Given the description of an element on the screen output the (x, y) to click on. 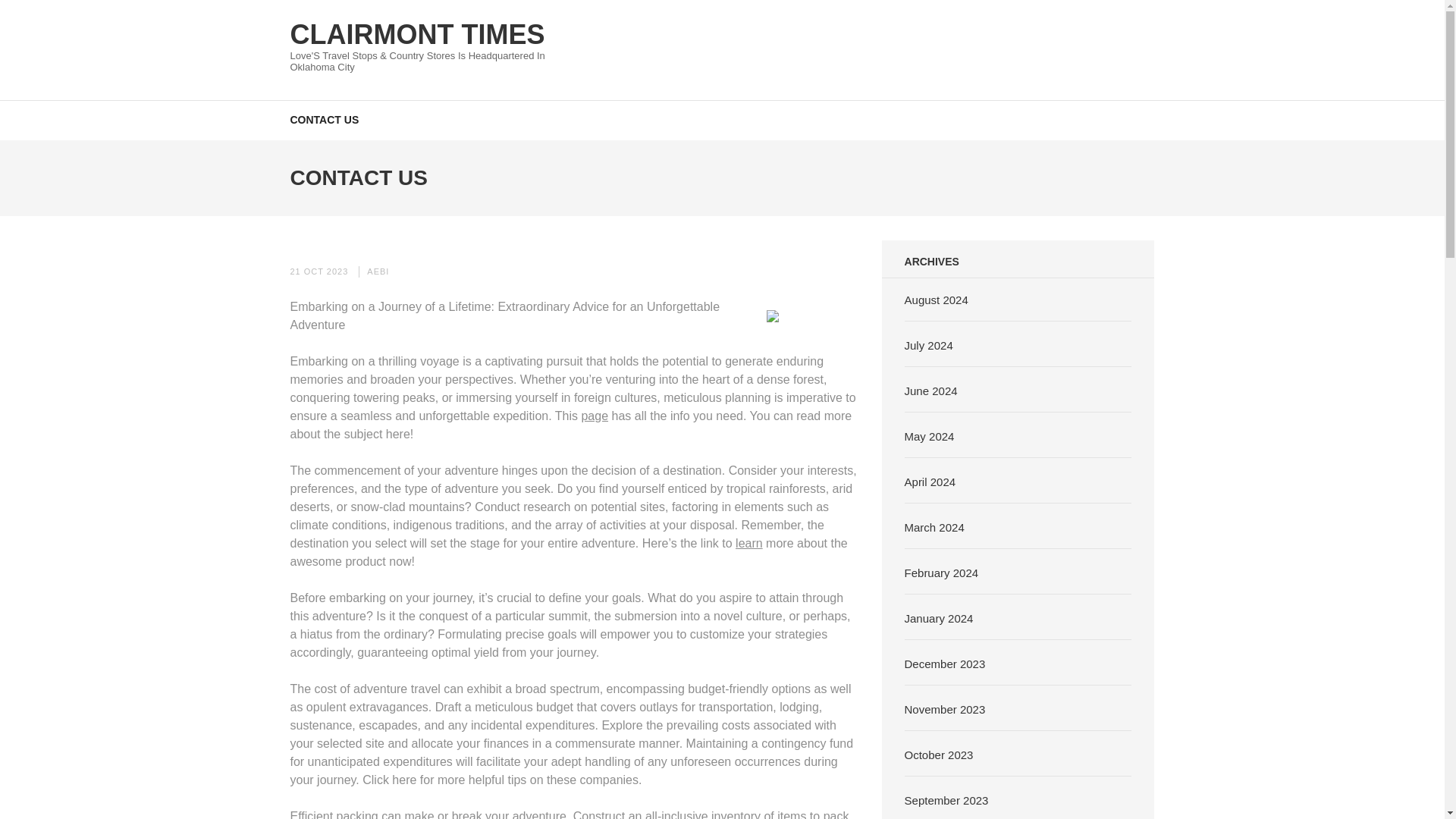
learn (748, 543)
November 2023 (944, 707)
August 2024 (936, 298)
October 2023 (939, 753)
April 2024 (930, 481)
CLAIRMONT TIMES (416, 33)
June 2024 (931, 390)
January 2024 (939, 617)
21 OCT 2023 (318, 271)
page (594, 415)
